Given the description of an element on the screen output the (x, y) to click on. 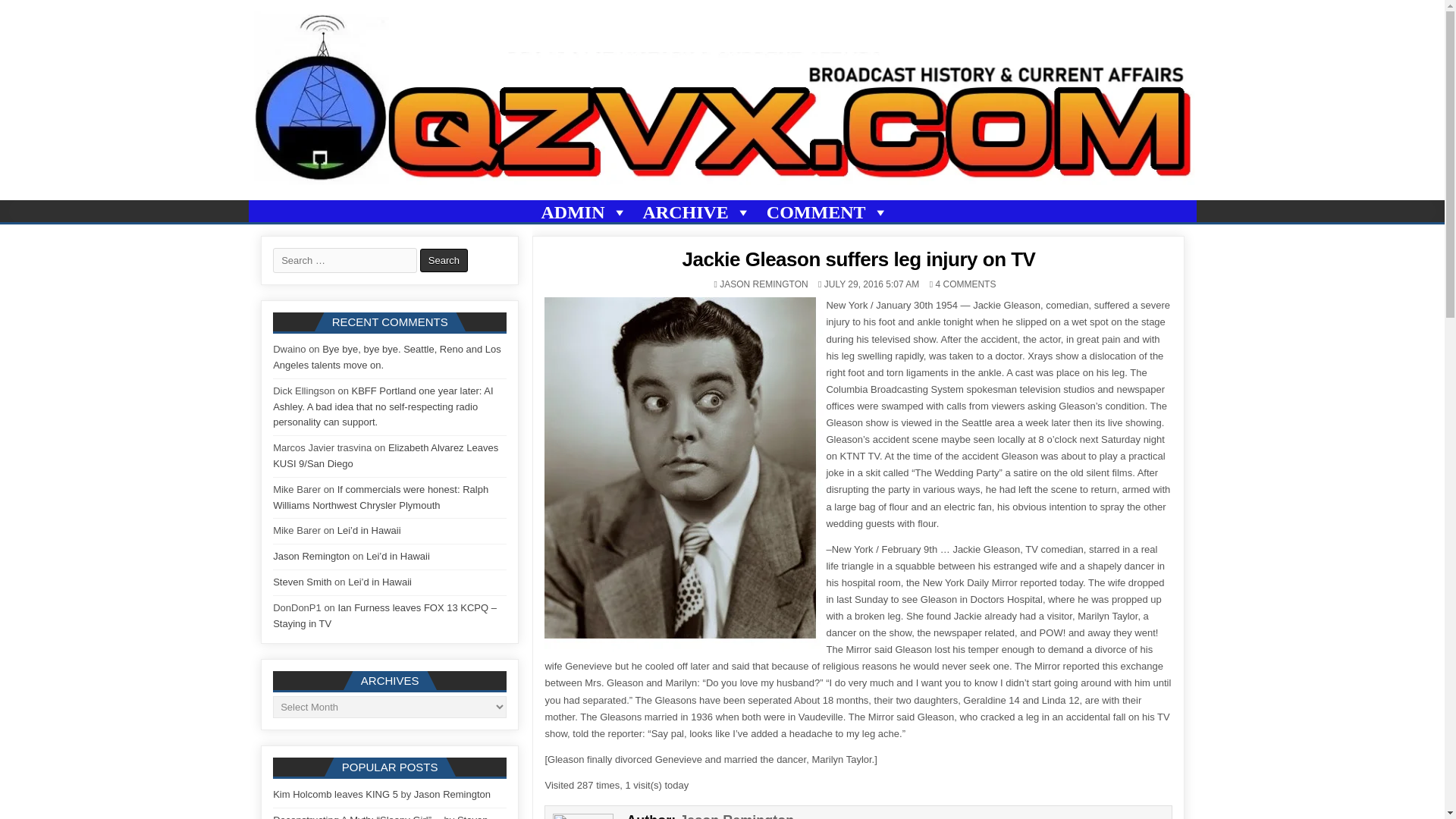
Search (443, 259)
COMMENT (827, 212)
Search (443, 259)
ARCHIVE (697, 212)
ADMIN (584, 212)
